Given the description of an element on the screen output the (x, y) to click on. 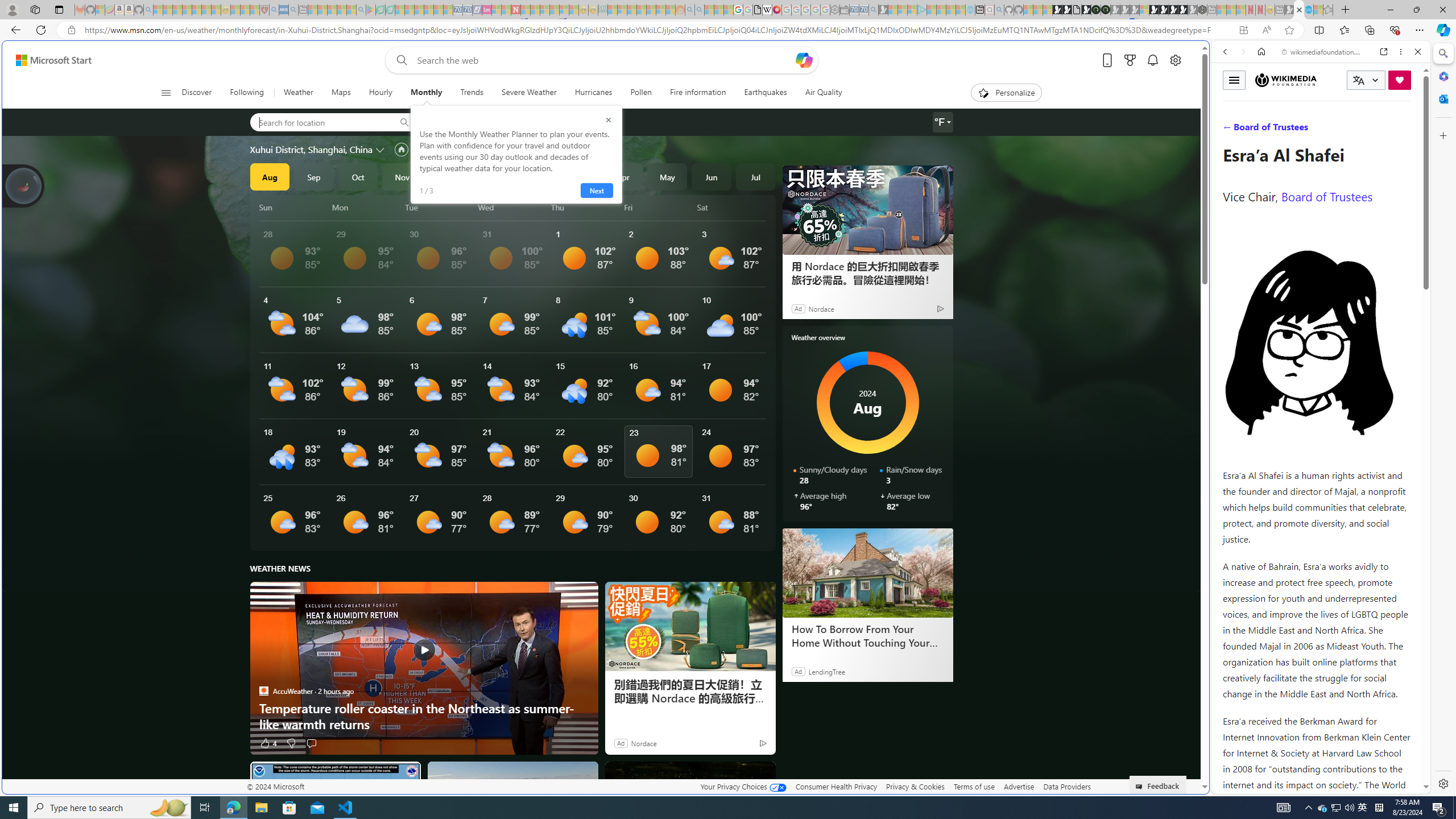
IMAGES (1262, 130)
Sat (732, 207)
Web search (398, 60)
Sep (313, 176)
Preferences (1403, 129)
